Given the description of an element on the screen output the (x, y) to click on. 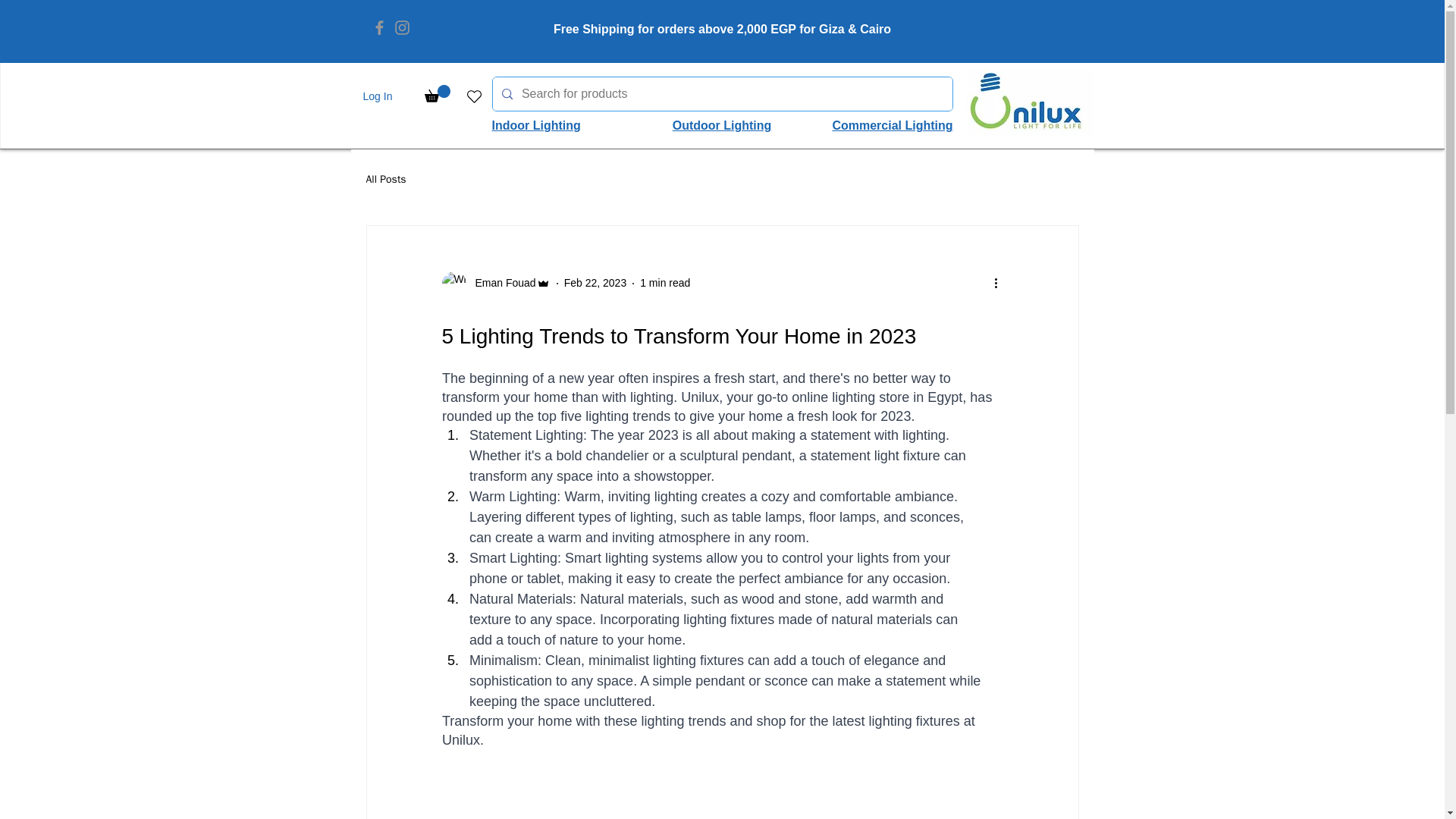
Indoor Lighting (535, 124)
Log In (361, 95)
Eman Fouad (495, 283)
Eman Fouad (500, 283)
All Posts (385, 179)
1 min read (665, 282)
Commercial Lighting (891, 124)
Feb 22, 2023 (595, 282)
Outdoor Lighting (721, 124)
